Given the description of an element on the screen output the (x, y) to click on. 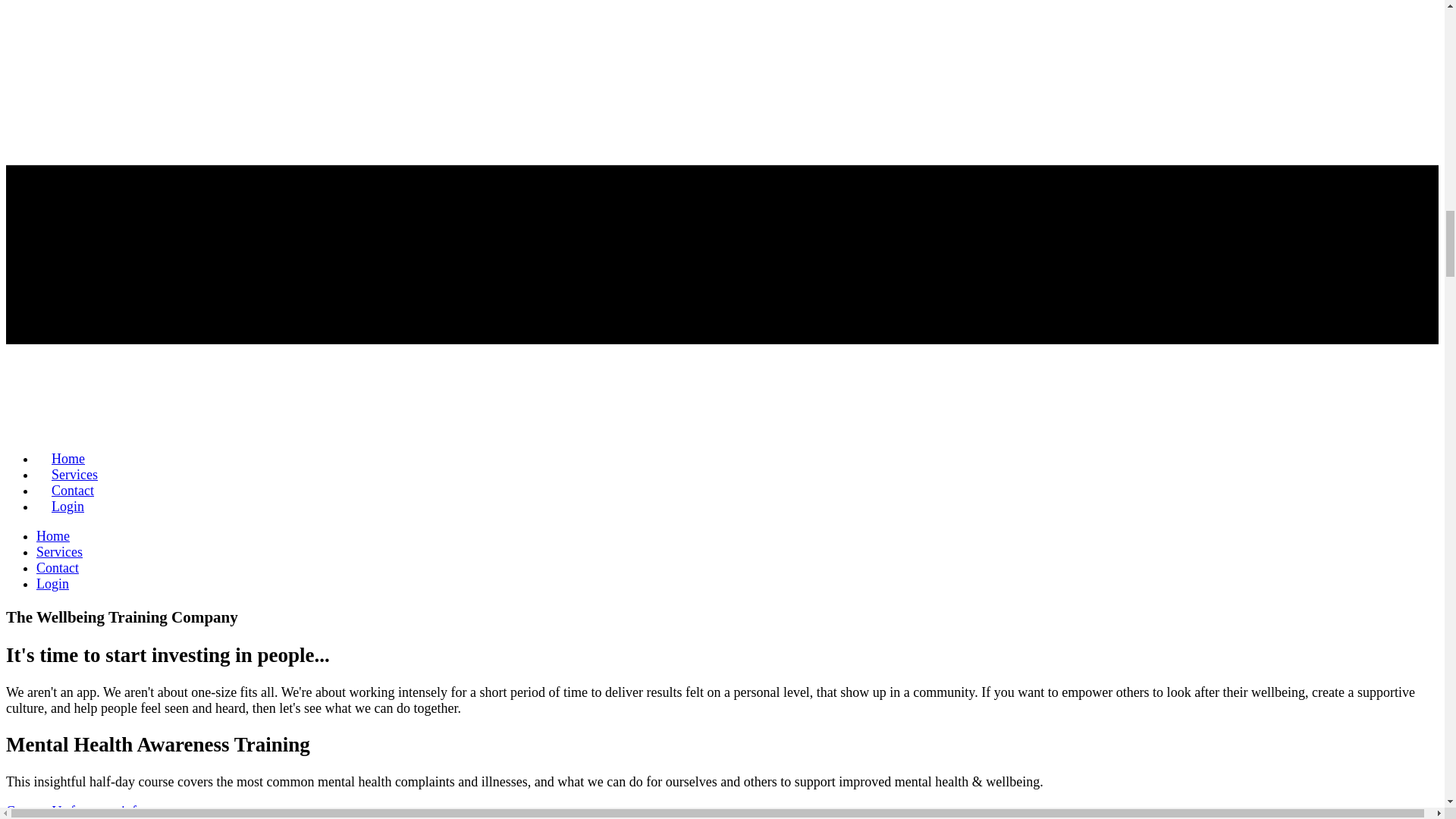
Contact Us for more info (73, 811)
Contact (57, 567)
Services (59, 551)
Contact (72, 490)
Services (74, 474)
Home (52, 535)
Login (52, 583)
Login (67, 506)
Home (68, 458)
